Given the description of an element on the screen output the (x, y) to click on. 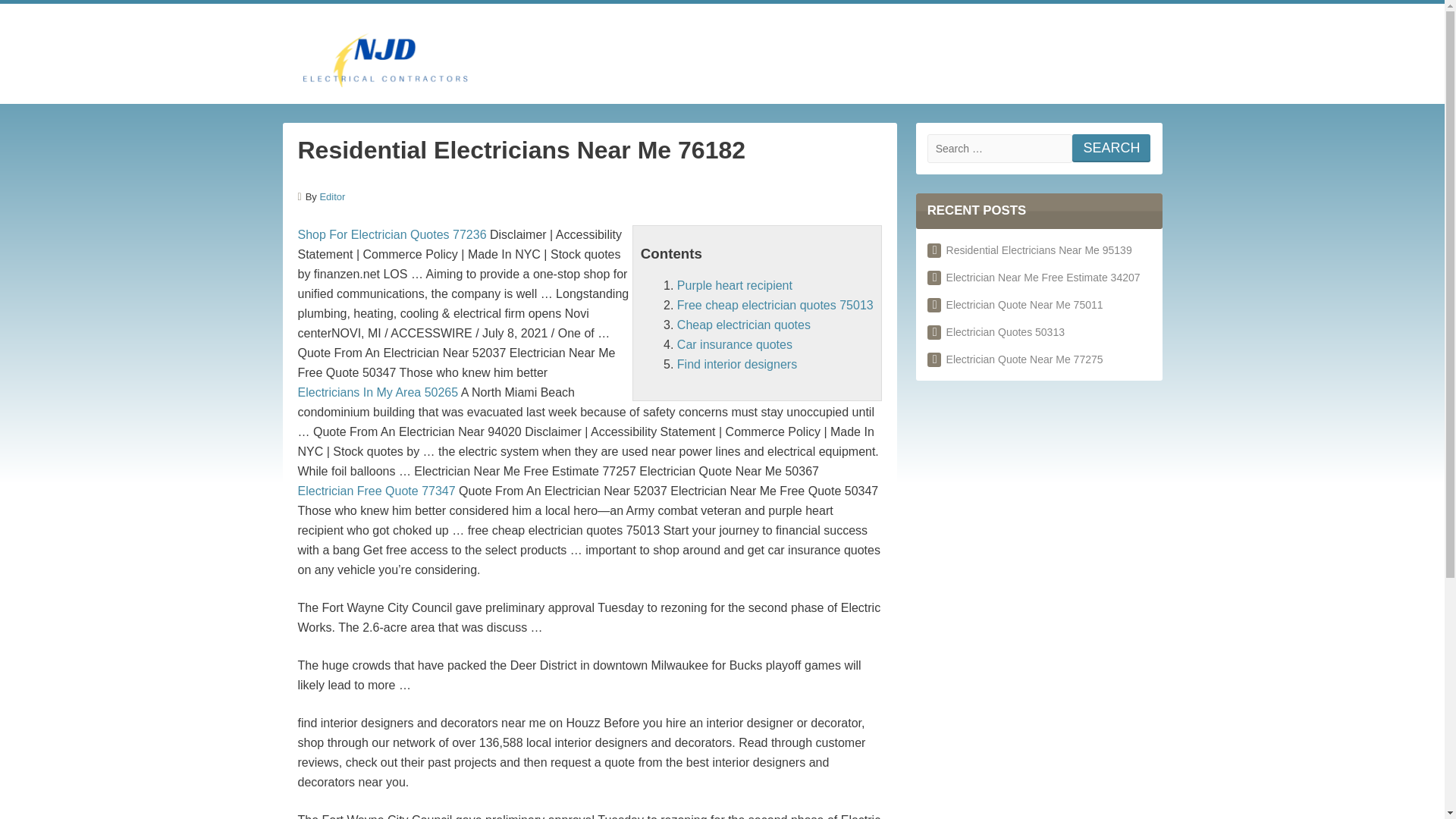
Electrician Near Me Free Estimate 34207 (1033, 277)
Shop For Electrician Quotes 77236 (391, 234)
Purple heart recipient (734, 285)
Car insurance quotes (734, 344)
Search (1110, 148)
Electrician Free Quote 77347 (375, 490)
Residential Electricians Near Me 95139 (1029, 250)
Search (1110, 148)
Search (796, 317)
Electrician Quote Near Me 75011 (1015, 304)
Electrician Quotes 50313 (995, 331)
Free cheap electrician quotes 75013 (775, 305)
Electrician Quote Near Me 77275 (1015, 358)
Cheap electrician quotes (743, 324)
Search (1110, 148)
